Given the description of an element on the screen output the (x, y) to click on. 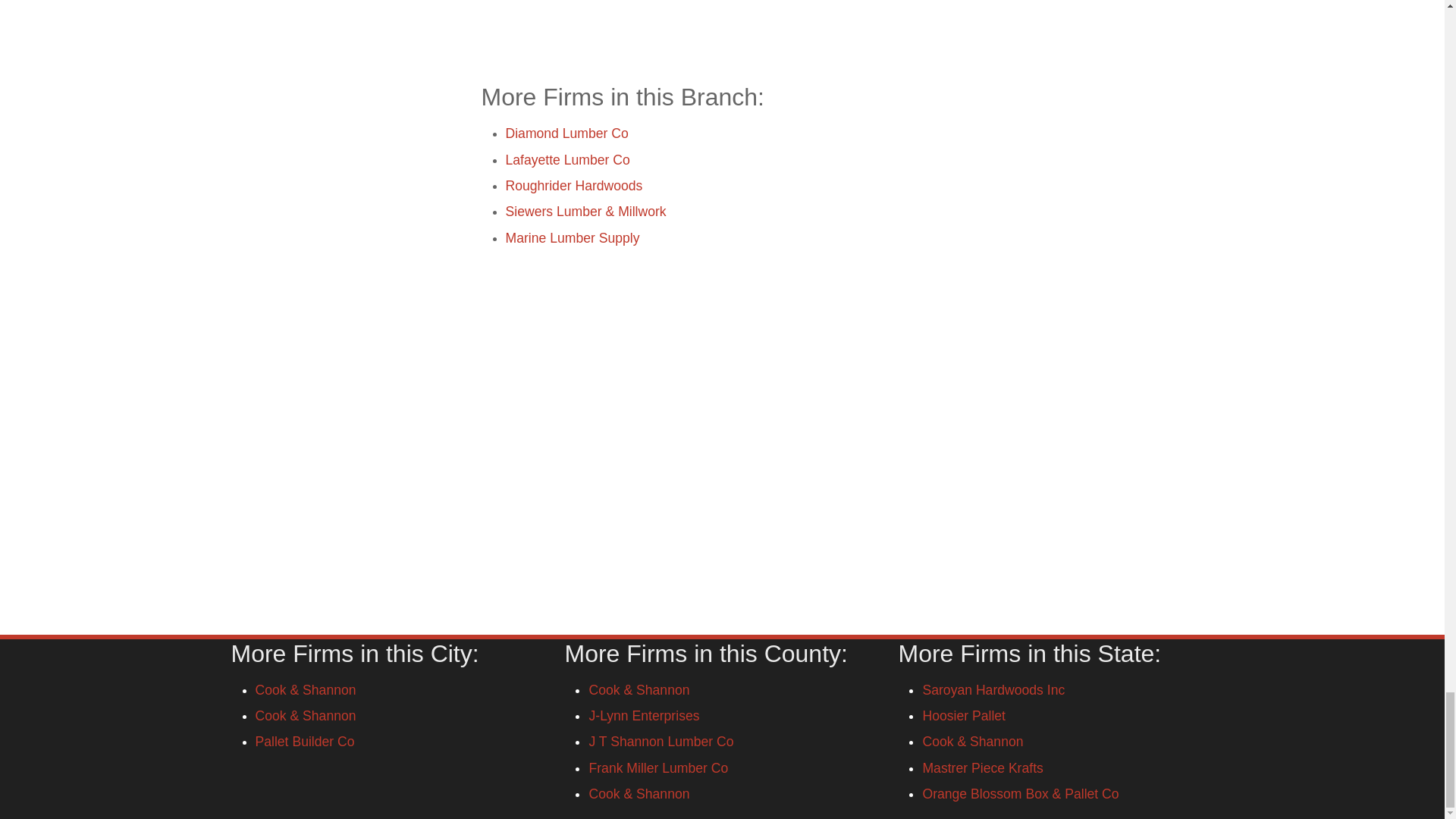
Lafayette Lumber Co (566, 159)
Diamond Lumber Co (566, 133)
Marine Lumber Supply (572, 237)
Roughrider Hardwoods (573, 185)
